Given the description of an element on the screen output the (x, y) to click on. 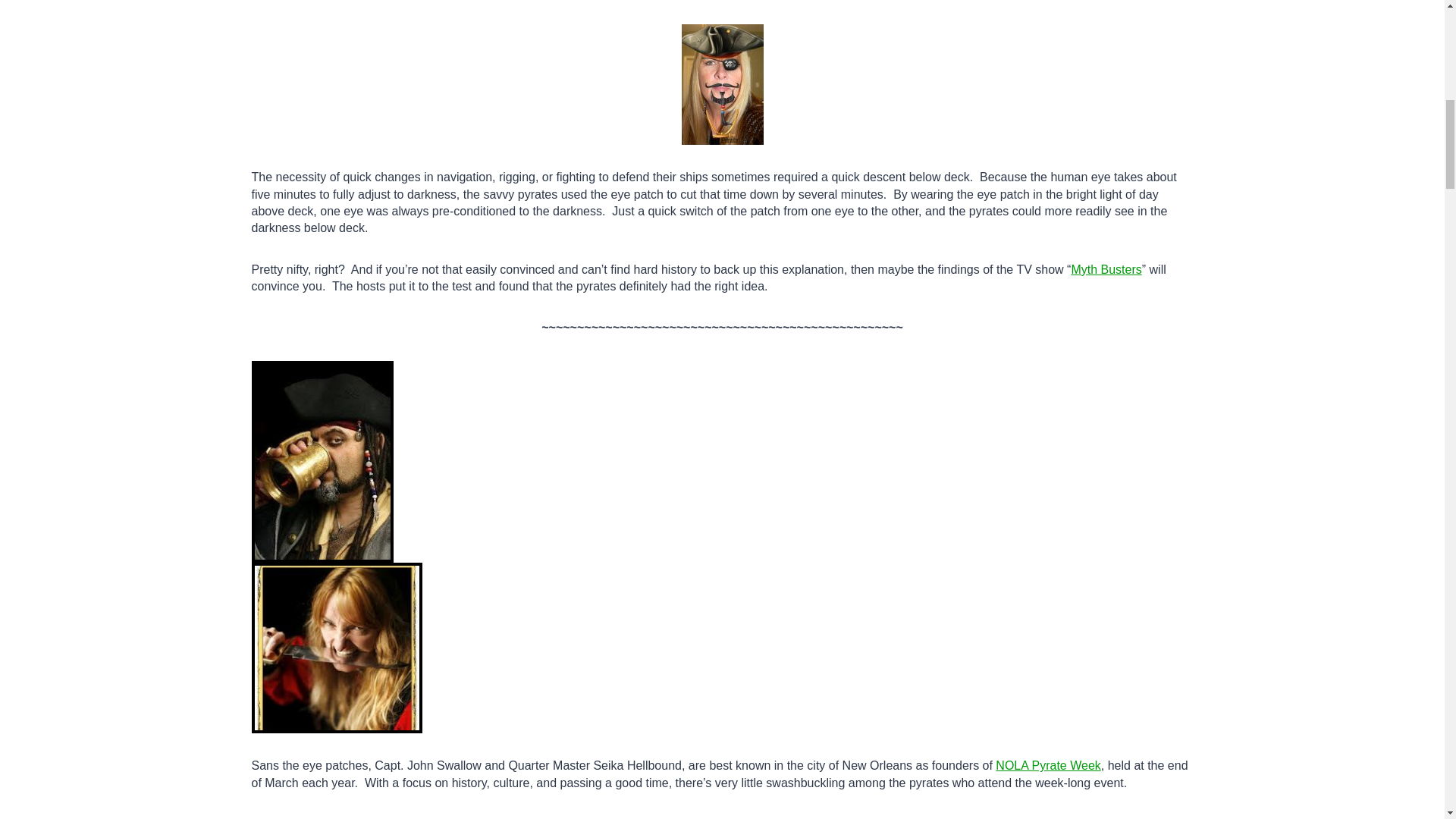
NOLA Pyrate Week (1047, 765)
crew of pyrates (775, 818)
Myth Busters (1105, 269)
